Given the description of an element on the screen output the (x, y) to click on. 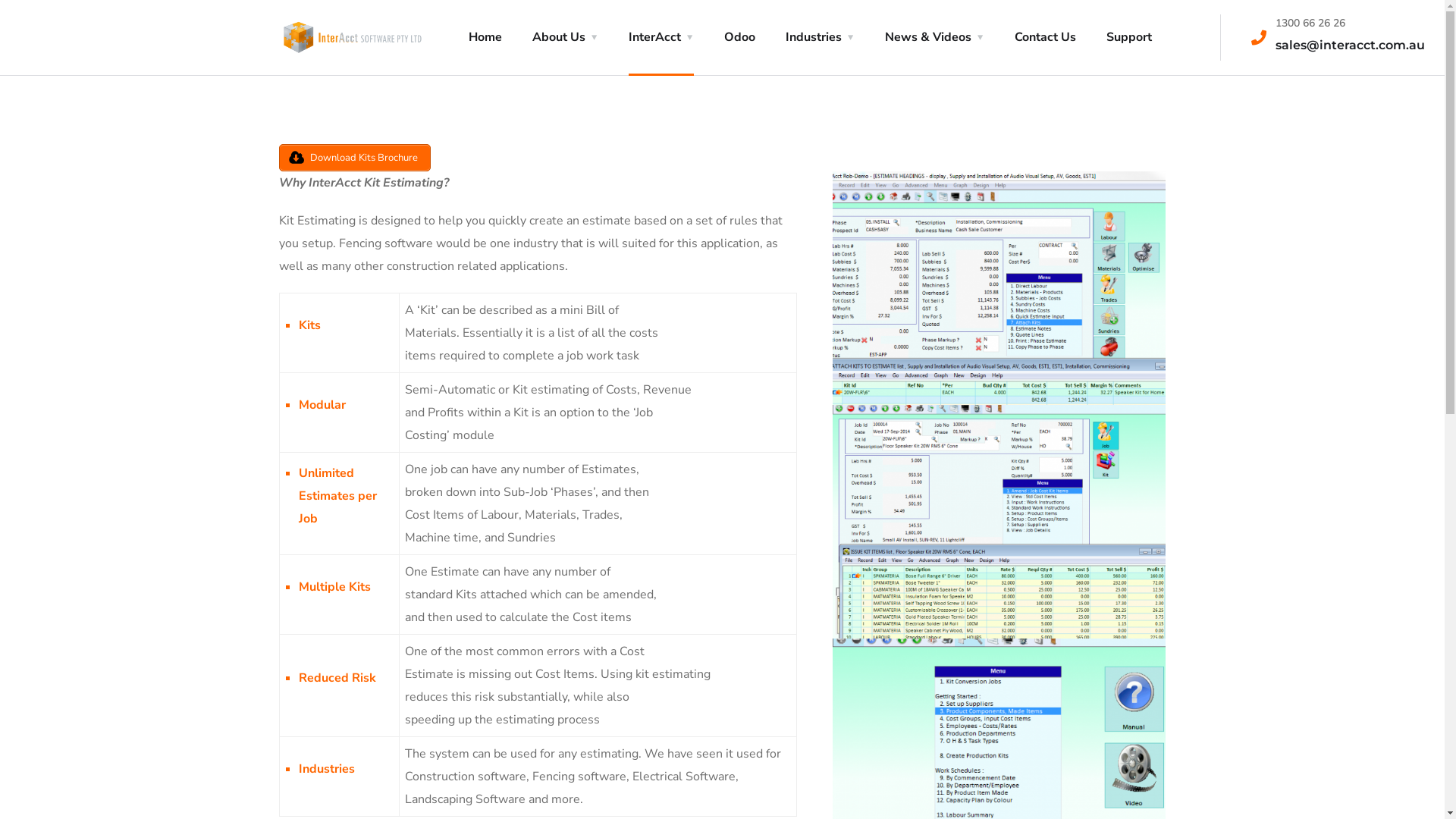
Download Kits Brochure Element type: text (354, 157)
InterAcct Element type: text (660, 37)
News & Videos Element type: text (933, 37)
Contact Us Element type: text (1045, 37)
Support Element type: text (1128, 37)
Industries Element type: text (819, 37)
Odoo Element type: text (738, 37)
About Us Element type: text (565, 37)
sales@interacct.com.au Element type: text (1349, 44)
Home Element type: text (485, 37)
